Given the description of an element on the screen output the (x, y) to click on. 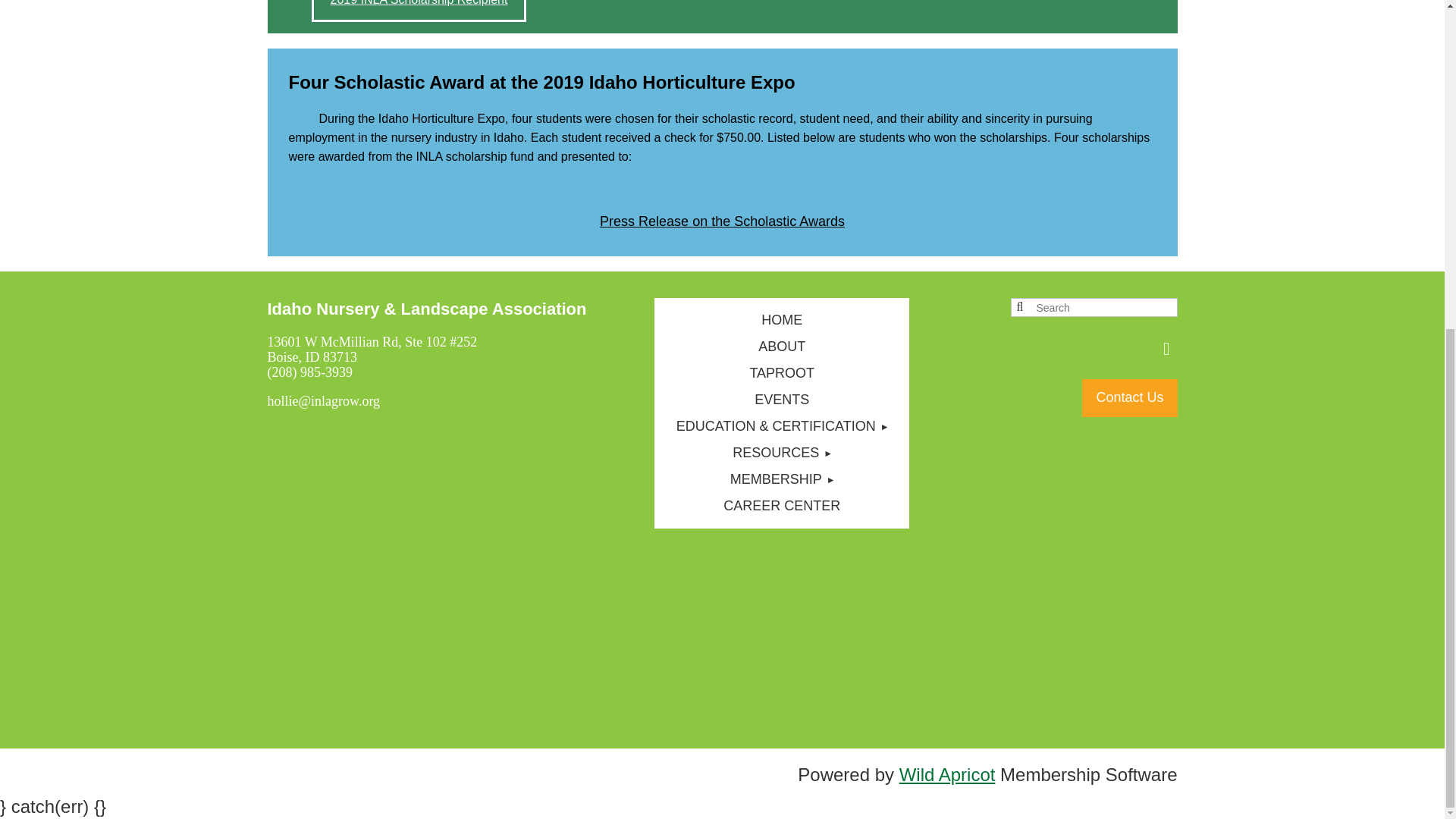
Press Release on the Scholastic Awards (721, 221)
HOME (780, 320)
2019 INLA Scholarship Recipient (419, 11)
